Given the description of an element on the screen output the (x, y) to click on. 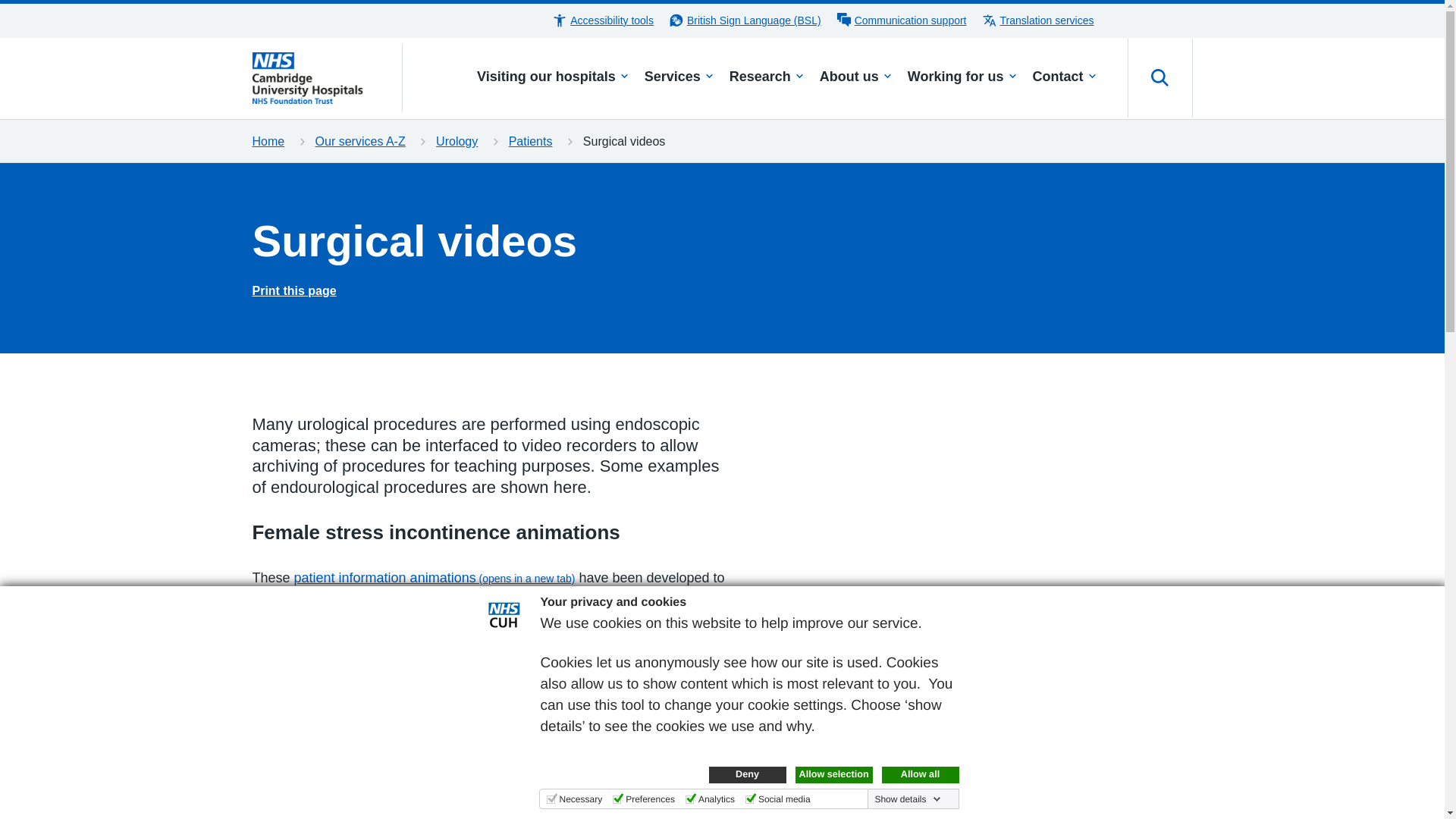
Deny (746, 774)
Allow all (919, 774)
Show details (906, 799)
Allow selection (833, 774)
